Given the description of an element on the screen output the (x, y) to click on. 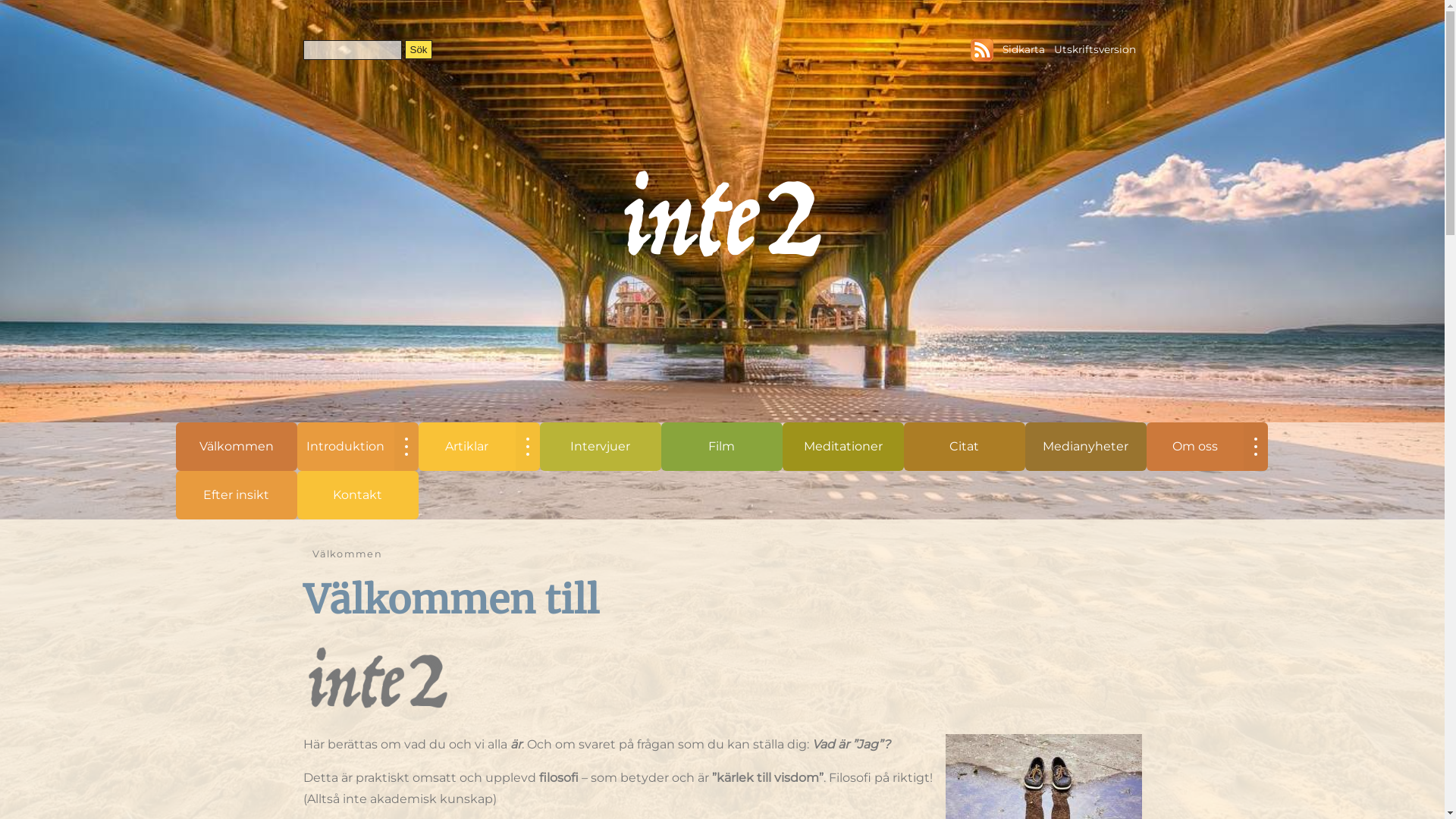
Citat Element type: text (964, 446)
Meditationer Element type: text (842, 446)
Inte2 Element type: hover (721, 215)
Film Element type: text (721, 446)
Medianyheter Element type: text (1085, 446)
Inte2 Element type: hover (377, 679)
Kontakt Element type: text (357, 494)
Introduktion Element type: text (345, 446)
Efter insikt Element type: text (236, 494)
Intervjuer Element type: text (600, 446)
Utskriftsversion Element type: text (1094, 49)
Artiklar Element type: text (466, 446)
Om oss Element type: text (1194, 446)
Sidkarta Element type: text (1023, 49)
Inte2 Element type: hover (377, 710)
